Given the description of an element on the screen output the (x, y) to click on. 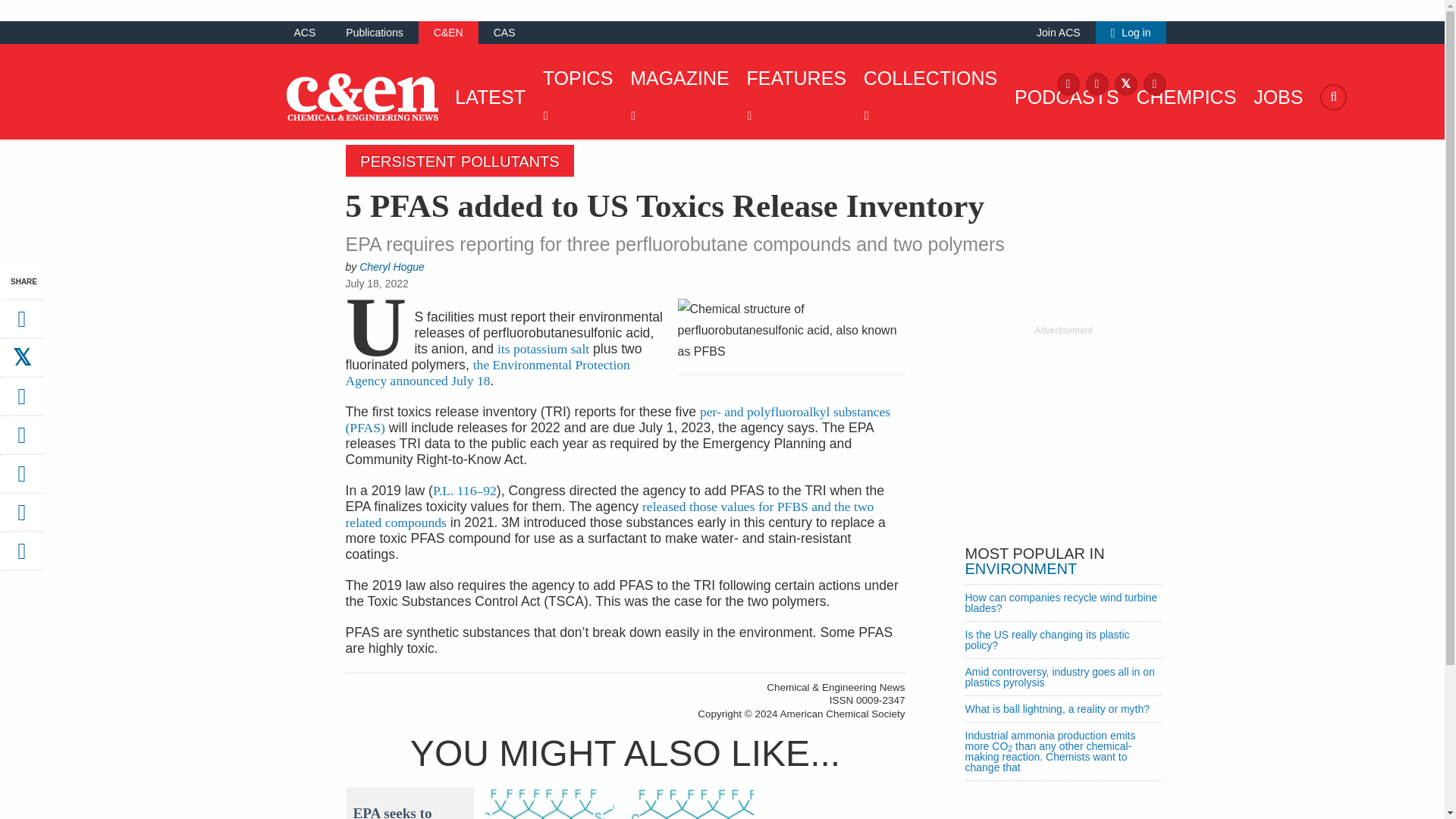
Facebook (1068, 82)
TOPICS (573, 96)
2022-15268.pdf (488, 372)
Publications (374, 32)
Join ACS (1058, 32)
ACS (304, 32)
X (1126, 82)
2022-15268.pdf (543, 348)
3rd party ad content (1062, 432)
